Given the description of an element on the screen output the (x, y) to click on. 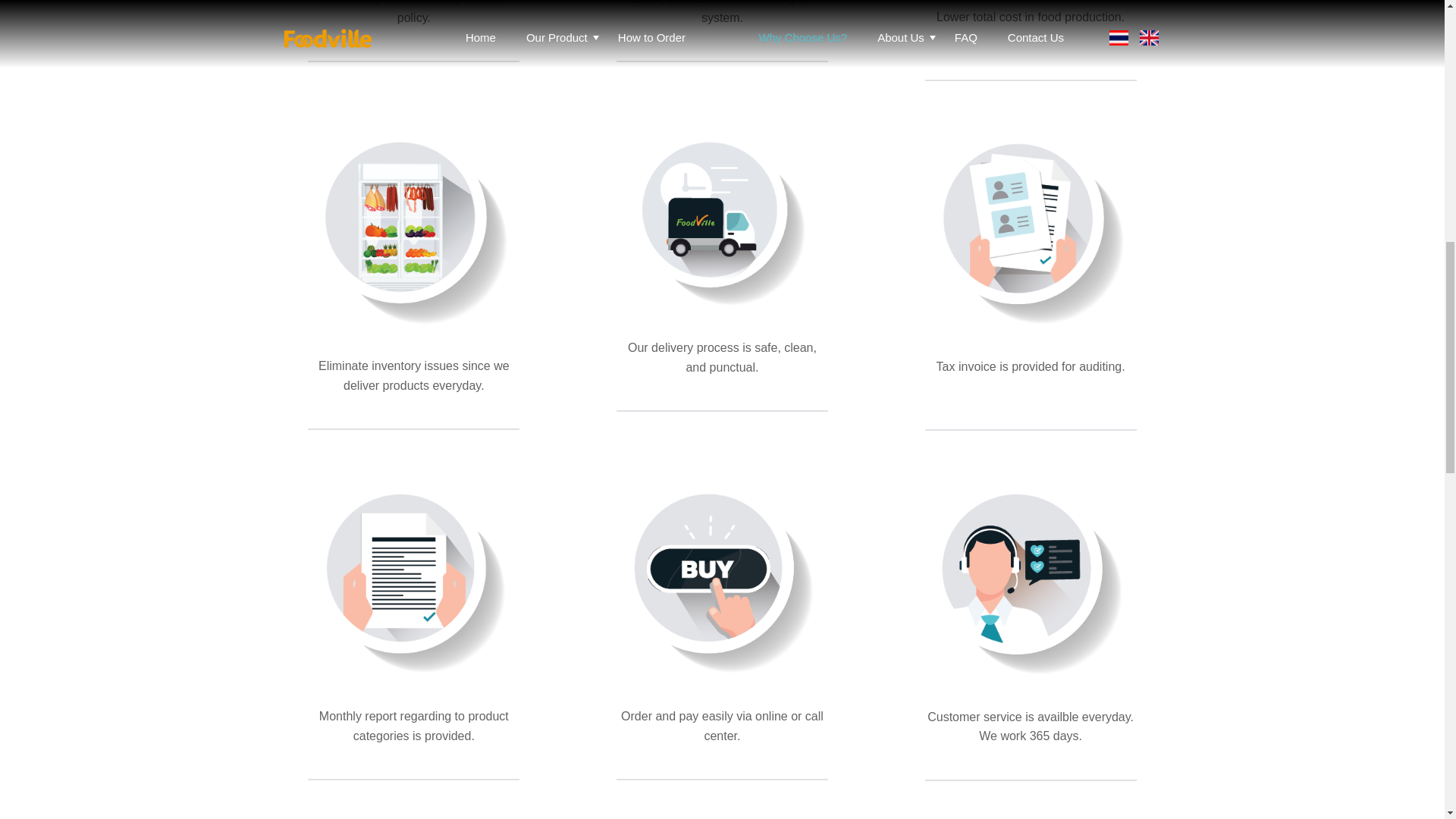
foodville-image-icon3-desktop (721, 214)
Artboard 4 copy 18 (413, 223)
Artboard 4 copy 3 - Copy (721, 574)
Artboard 4 copy 2 (413, 574)
Artboard 4 copy 10 (1030, 224)
